Given the description of an element on the screen output the (x, y) to click on. 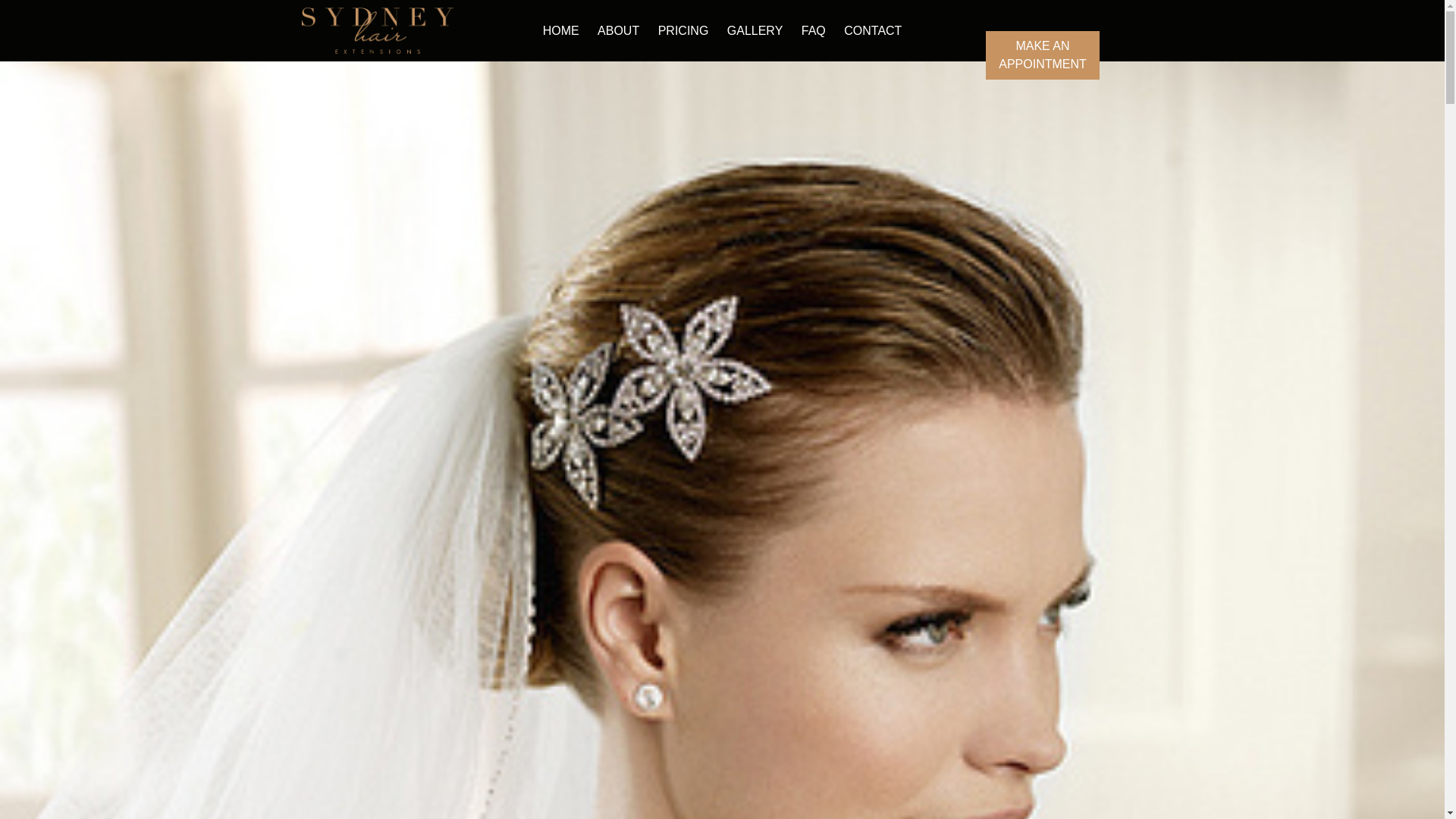
GALLERY (754, 30)
PRICING (683, 30)
HOME (561, 30)
ABOUT (617, 30)
MAKE AN APPOINTMENT (1042, 55)
FAQ (813, 30)
CONTACT (872, 30)
